Given the description of an element on the screen output the (x, y) to click on. 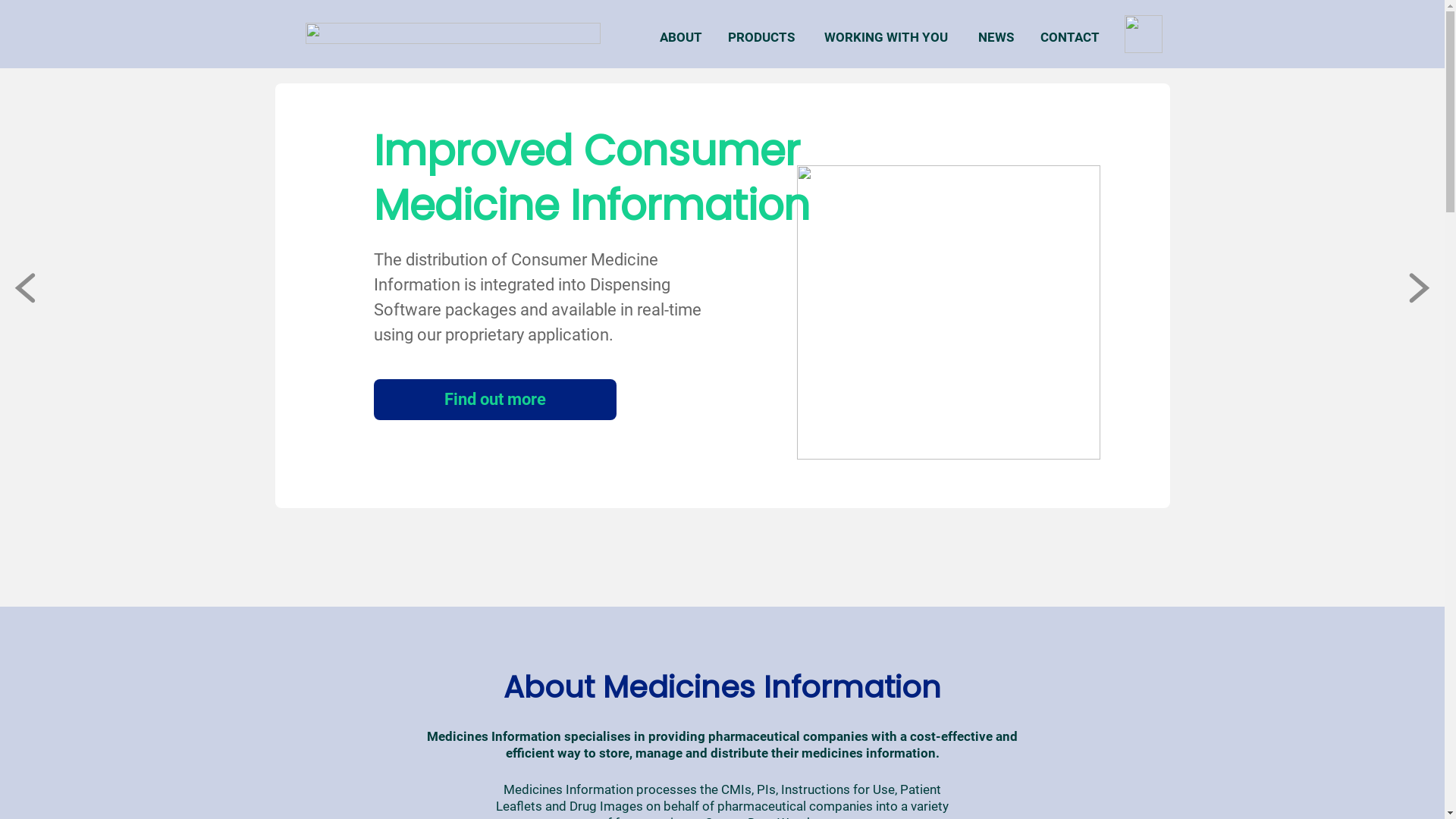
ABOUT Element type: text (680, 36)
NEWS Element type: text (995, 36)
Find out more Element type: text (494, 399)
WORKING WITH YOU Element type: text (885, 36)
CONTACT Element type: text (1069, 36)
PRODUCTS Element type: text (760, 36)
